Given the description of an element on the screen output the (x, y) to click on. 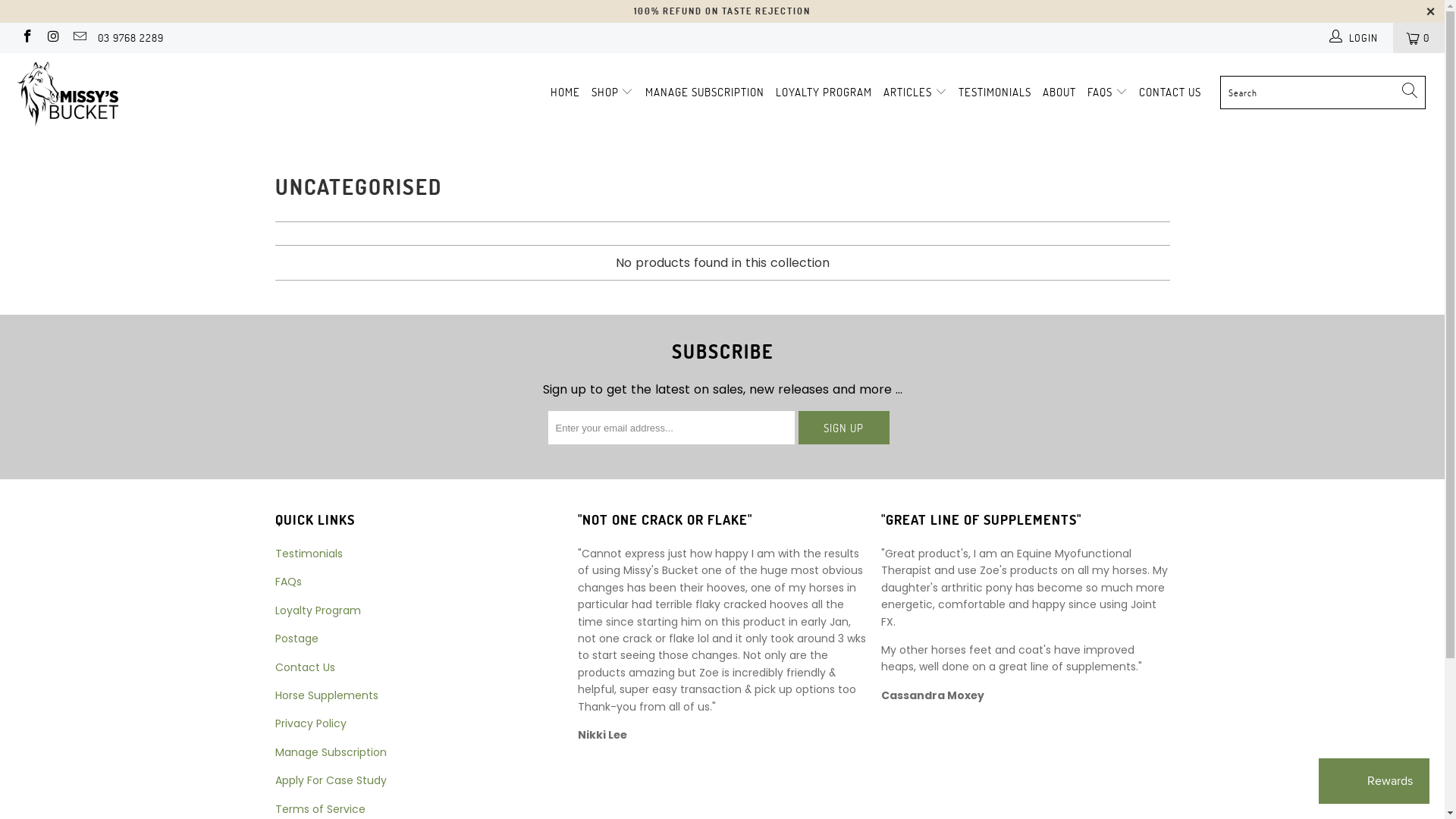
Terms of Service Element type: text (319, 808)
ABOUT Element type: text (1059, 92)
Horse Supplements Element type: text (325, 694)
Postage Element type: text (295, 638)
LOYALTY PROGRAM Element type: text (823, 92)
Manage Subscription Element type: text (329, 751)
Privacy Policy Element type: text (309, 723)
03 9768 2289 Element type: text (130, 37)
Contact Us Element type: text (304, 666)
ARTICLES Element type: text (915, 92)
SHOP Element type: text (612, 92)
MANAGE SUBSCRIPTION Element type: text (704, 92)
Smile.io Rewards Program Launcher Element type: hover (1373, 780)
Email Missy's Bucket Element type: hover (78, 37)
Missy's Bucket on Facebook Element type: hover (26, 37)
0 Element type: text (1418, 37)
Sign Up Element type: text (842, 427)
Loyalty Program Element type: text (317, 610)
Testimonials Element type: text (308, 553)
LOGIN Element type: text (1354, 37)
CONTACT US Element type: text (1170, 92)
Missy's Bucket Element type: hover (123, 95)
FAQs Element type: text (287, 581)
TESTIMONIALS Element type: text (994, 92)
Missy's Bucket on Instagram Element type: hover (52, 37)
Apply For Case Study Element type: text (329, 779)
FAQS Element type: text (1107, 92)
HOME Element type: text (565, 92)
